Given the description of an element on the screen output the (x, y) to click on. 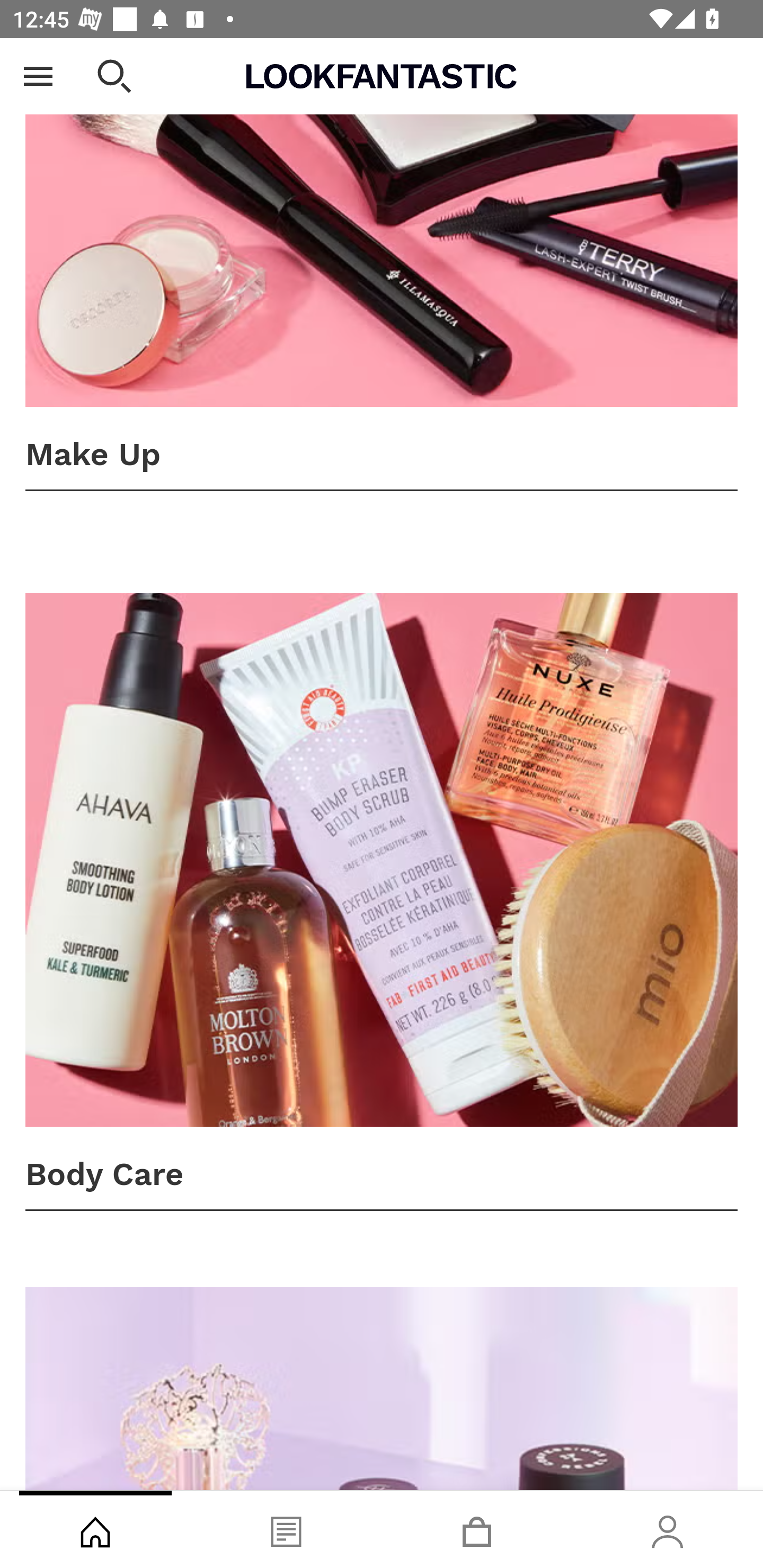
Make Up (381, 264)
Body Care (381, 902)
Shop, tab, 1 of 4 (95, 1529)
Blog, tab, 2 of 4 (285, 1529)
Basket, tab, 3 of 4 (476, 1529)
Account, tab, 4 of 4 (667, 1529)
